Given the description of an element on the screen output the (x, y) to click on. 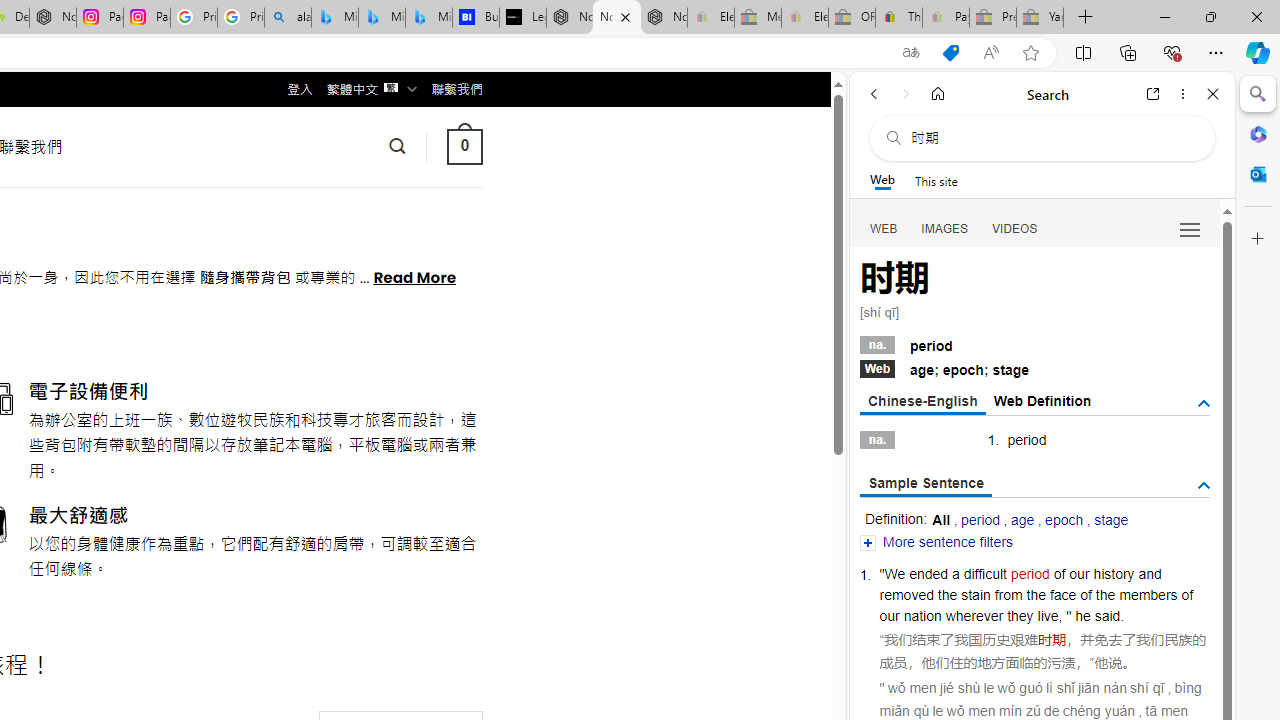
difficult (984, 573)
This site has coupons! Shopping in Microsoft Edge (950, 53)
Press Room - eBay Inc. - Sleeping (993, 17)
Show translate options (910, 53)
live (1047, 615)
  0   (464, 146)
Search Filter, VIDEOS (1015, 228)
Forward (906, 93)
This site scope (936, 180)
